Given the description of an element on the screen output the (x, y) to click on. 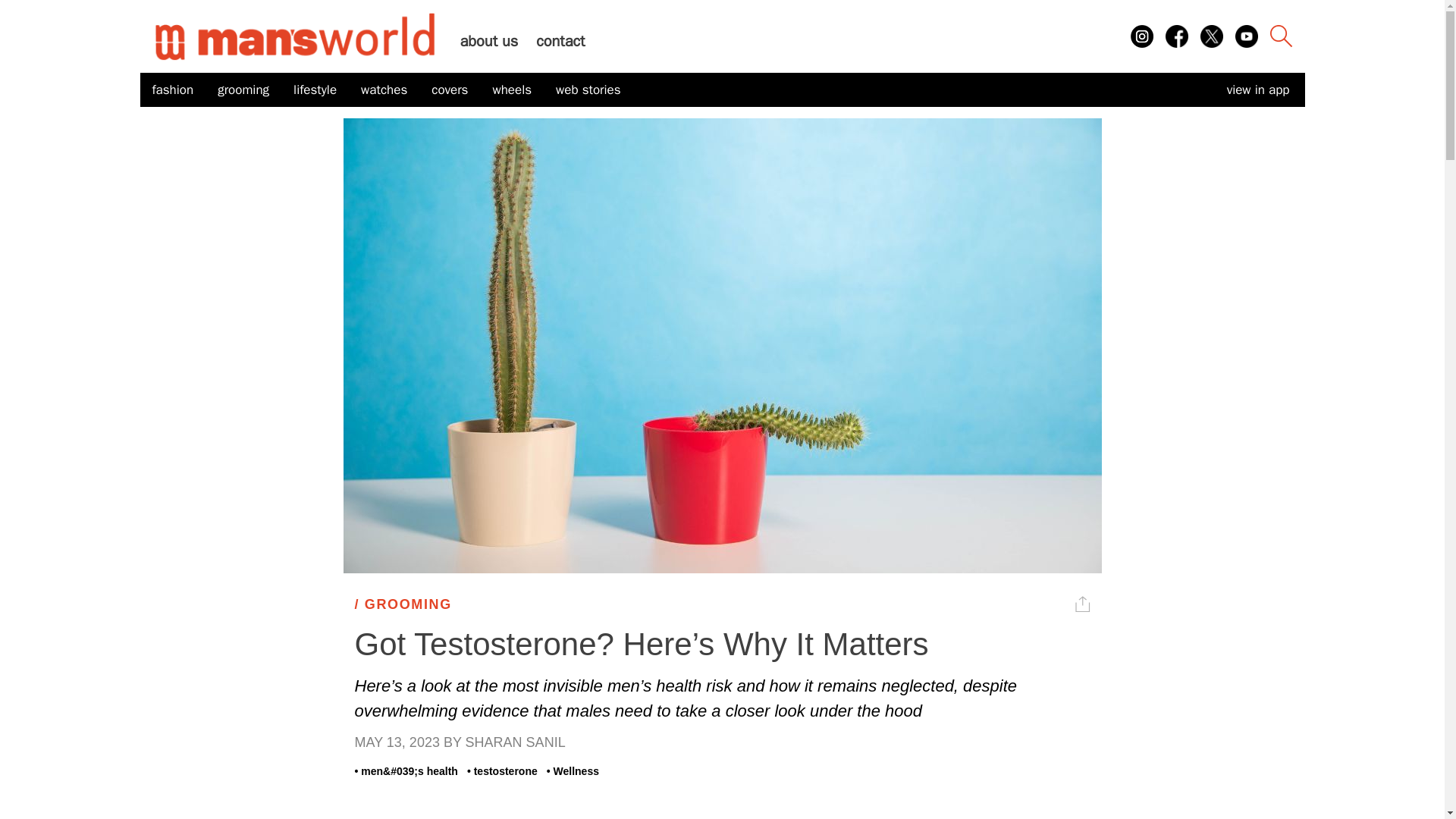
view in app (1257, 89)
covers (449, 90)
about us (489, 41)
MAY 13, 2023 BY SHARAN SANIL (722, 742)
watches (384, 90)
lifestyle (315, 90)
grooming (243, 90)
wheels (511, 90)
web stories (588, 90)
contact (560, 41)
